Given the description of an element on the screen output the (x, y) to click on. 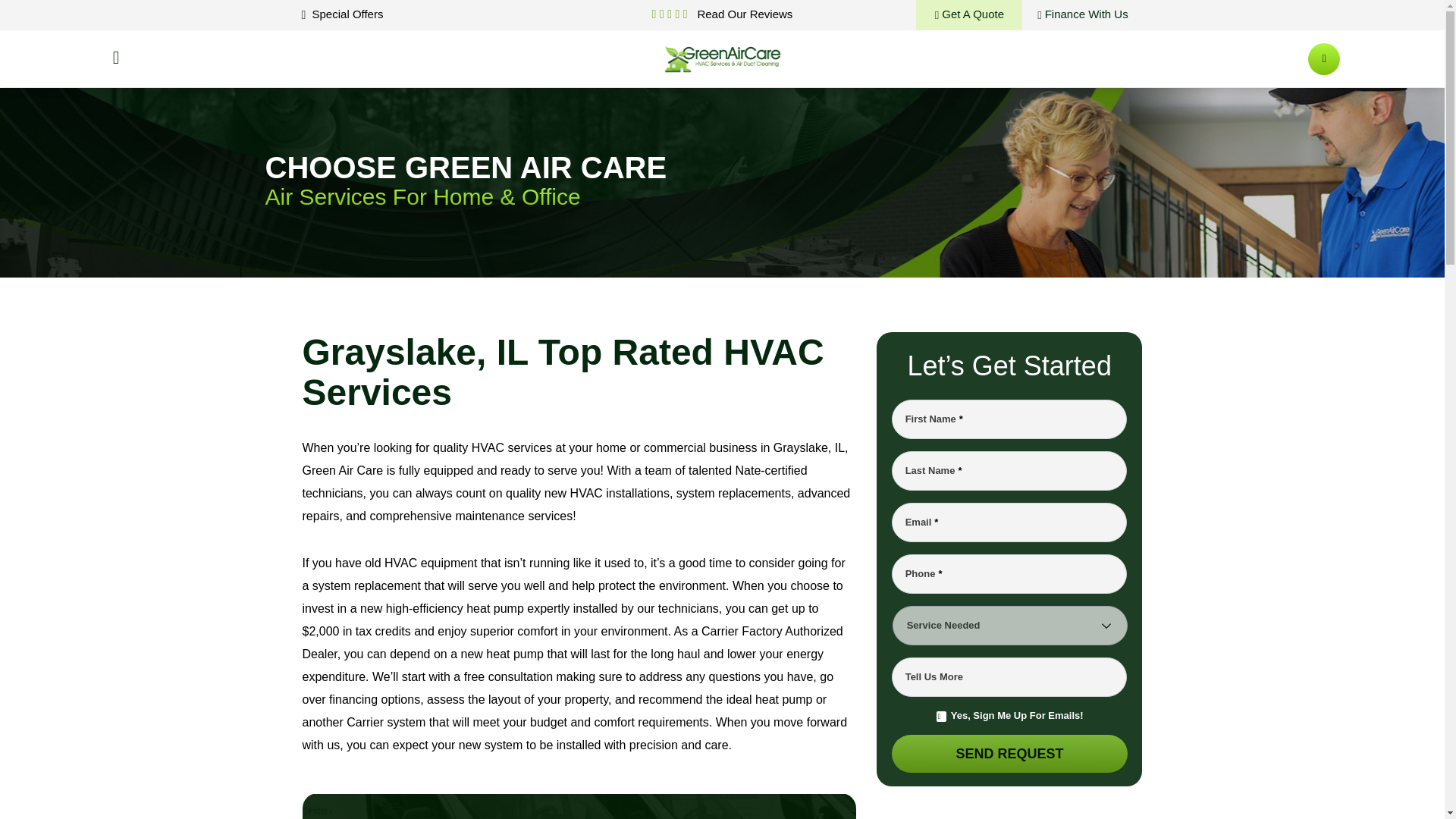
Special Offers (342, 13)
Read Our Reviews (741, 13)
Special Offers (342, 13)
  Read Our Reviews (741, 13)
